Given the description of an element on the screen output the (x, y) to click on. 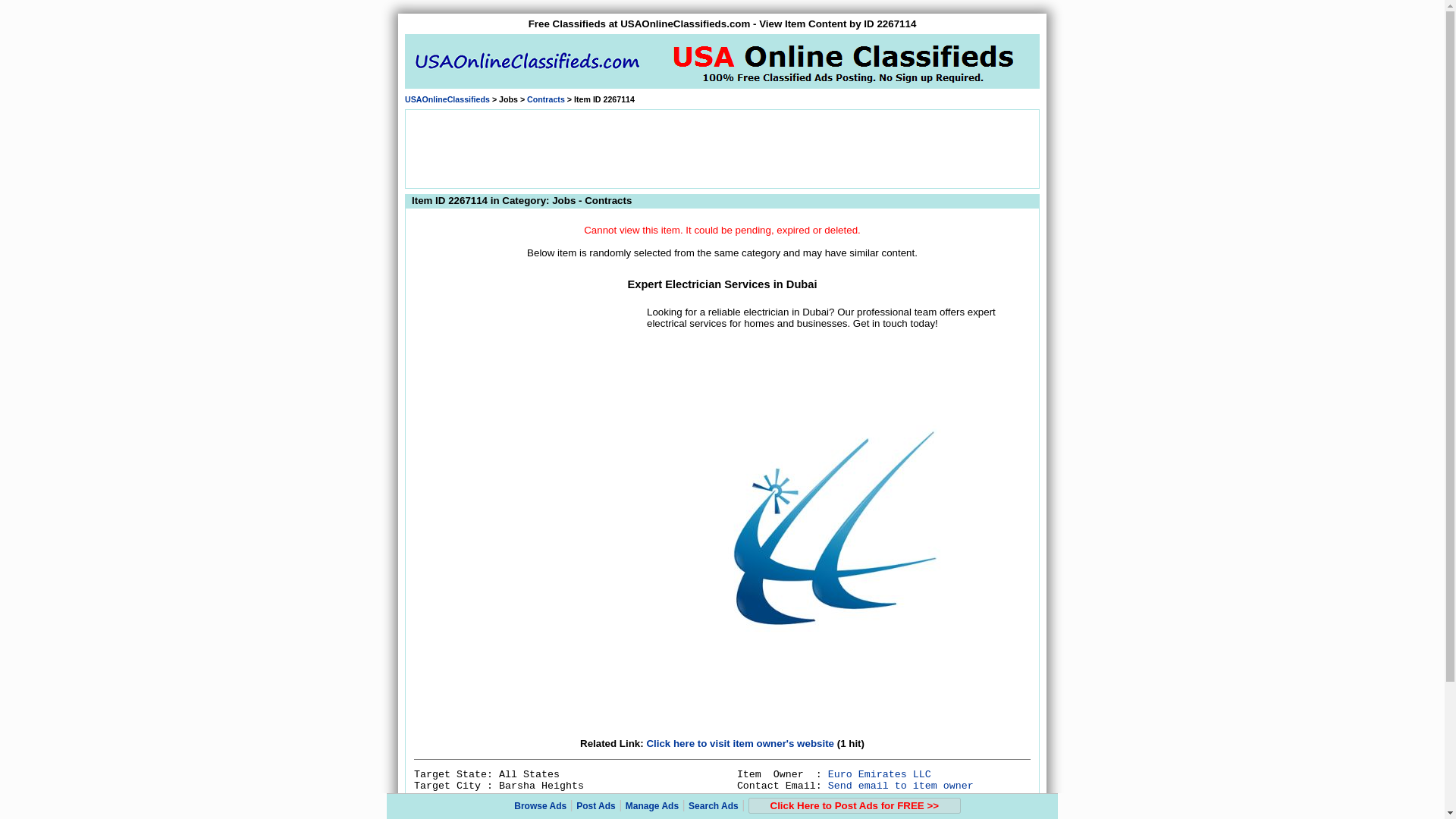
Browse all items posted by this owner (879, 774)
Search Ads (713, 805)
Send email to item owner (901, 785)
Advertisement (721, 147)
Go Back to USAOnlineClassifieds.com Home Page (446, 99)
Click here to visit item owner's website (740, 743)
USAOnlineClassifieds (446, 99)
Contracts (545, 99)
Manage Ads (652, 805)
Post Ads (595, 805)
